Given the description of an element on the screen output the (x, y) to click on. 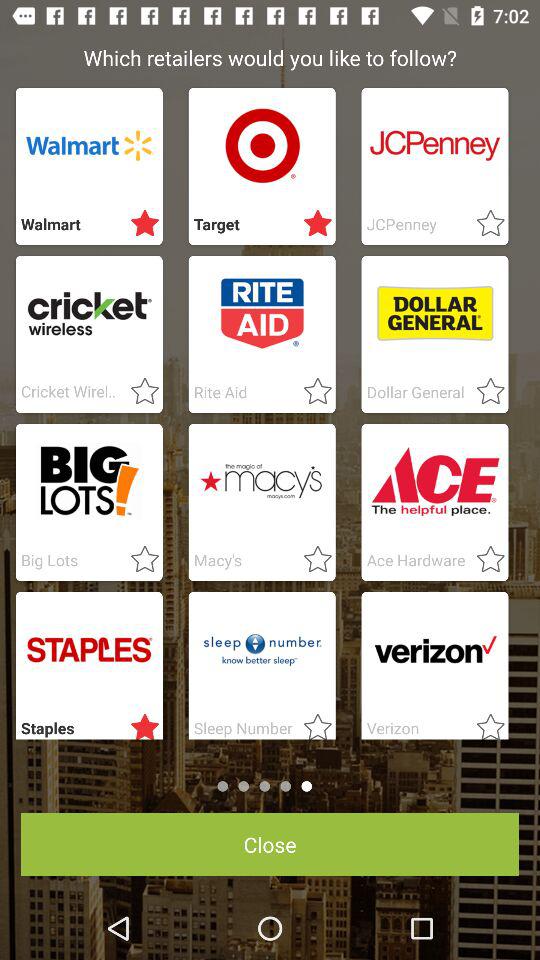
click favorite option (484, 224)
